Given the description of an element on the screen output the (x, y) to click on. 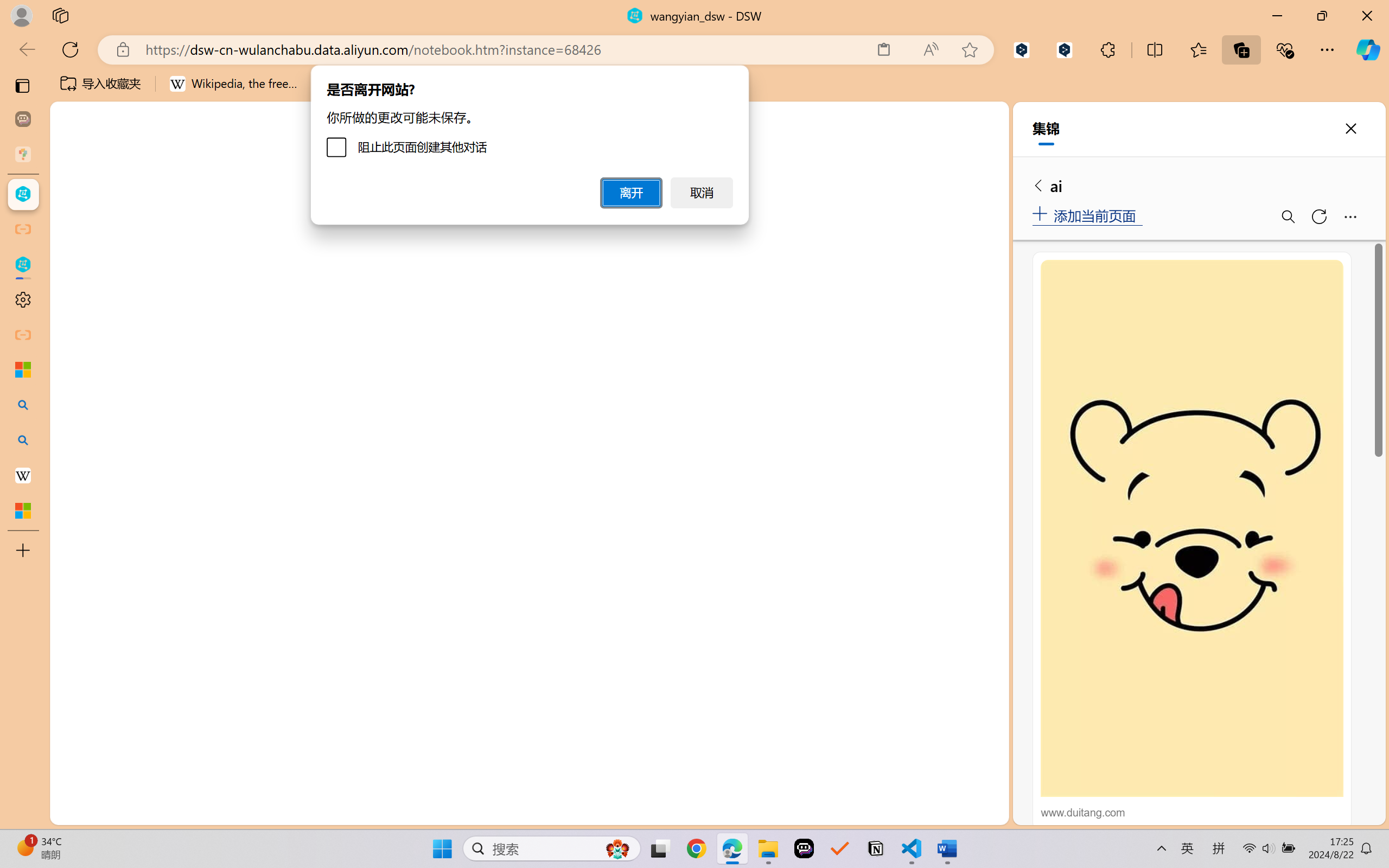
Explorer (Ctrl+Shift+E) (73, 234)
wangyian_dsw - DSW (22, 194)
icon (930, 121)
Class: next-menu next-hoz widgets--iconMenu--BFkiHRM (930, 121)
